Given the description of an element on the screen output the (x, y) to click on. 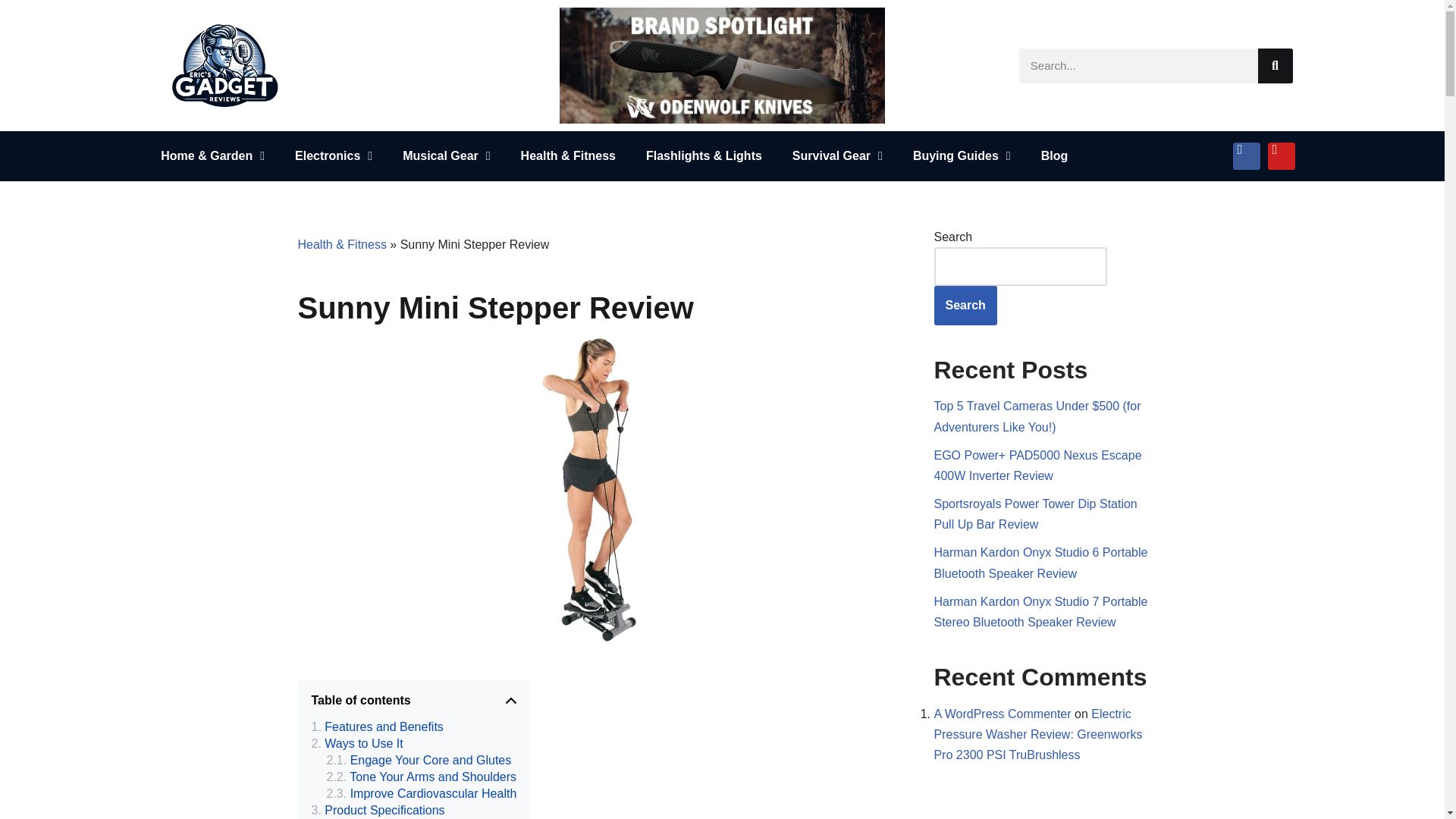
Buying Guides (962, 155)
Blog (1054, 155)
Product Specifications (377, 810)
Survival Gear (837, 155)
Electronics (333, 155)
Tone Your Arms and Shoulders (421, 777)
Features and Benefits (376, 727)
Improve Cardiovascular Health (421, 793)
Engage Your Core and Glutes (418, 760)
Musical Gear (446, 155)
Ways to Use It (357, 743)
Skip to content (11, 31)
